Given the description of an element on the screen output the (x, y) to click on. 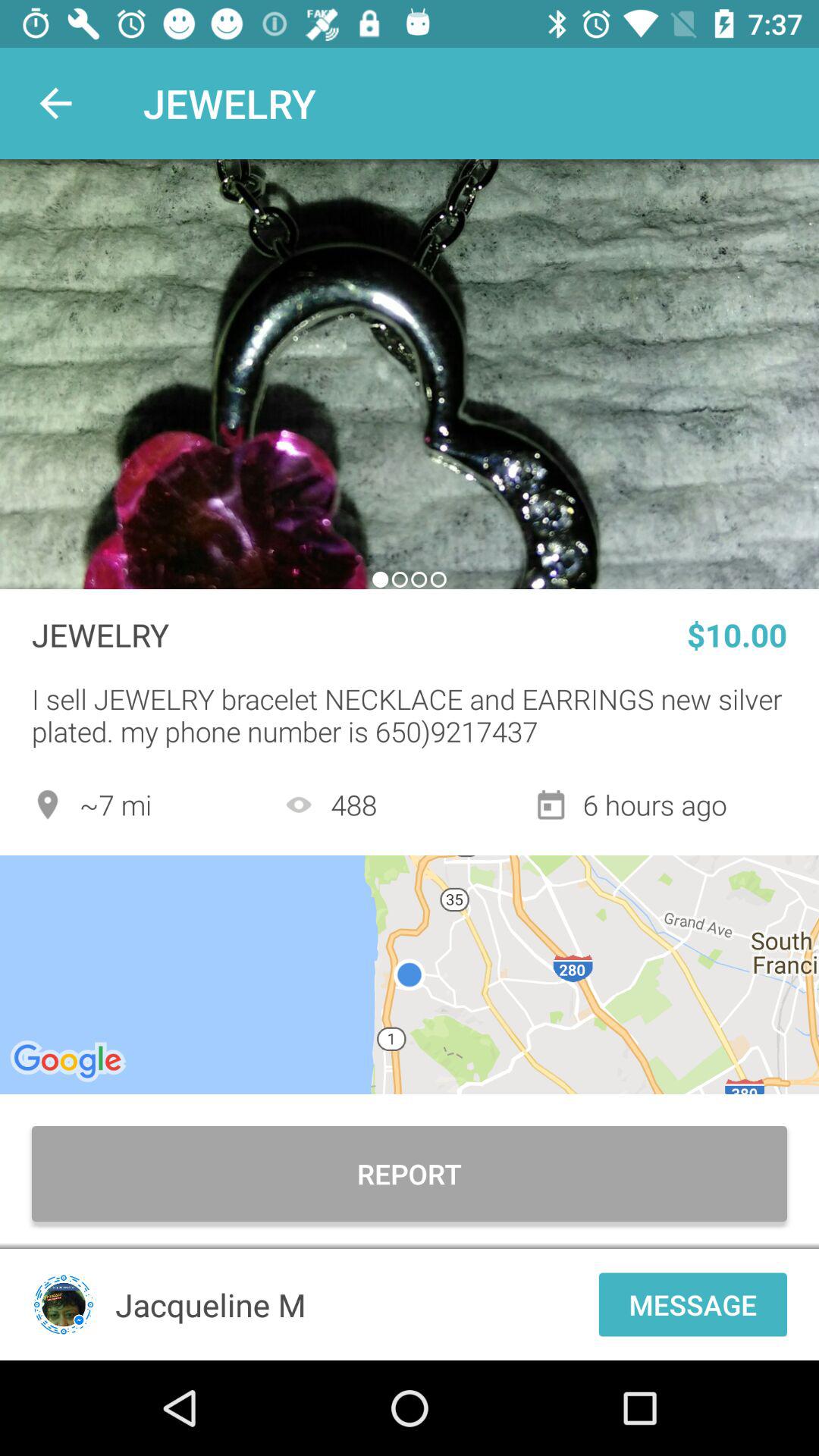
press the report (409, 1173)
